Given the description of an element on the screen output the (x, y) to click on. 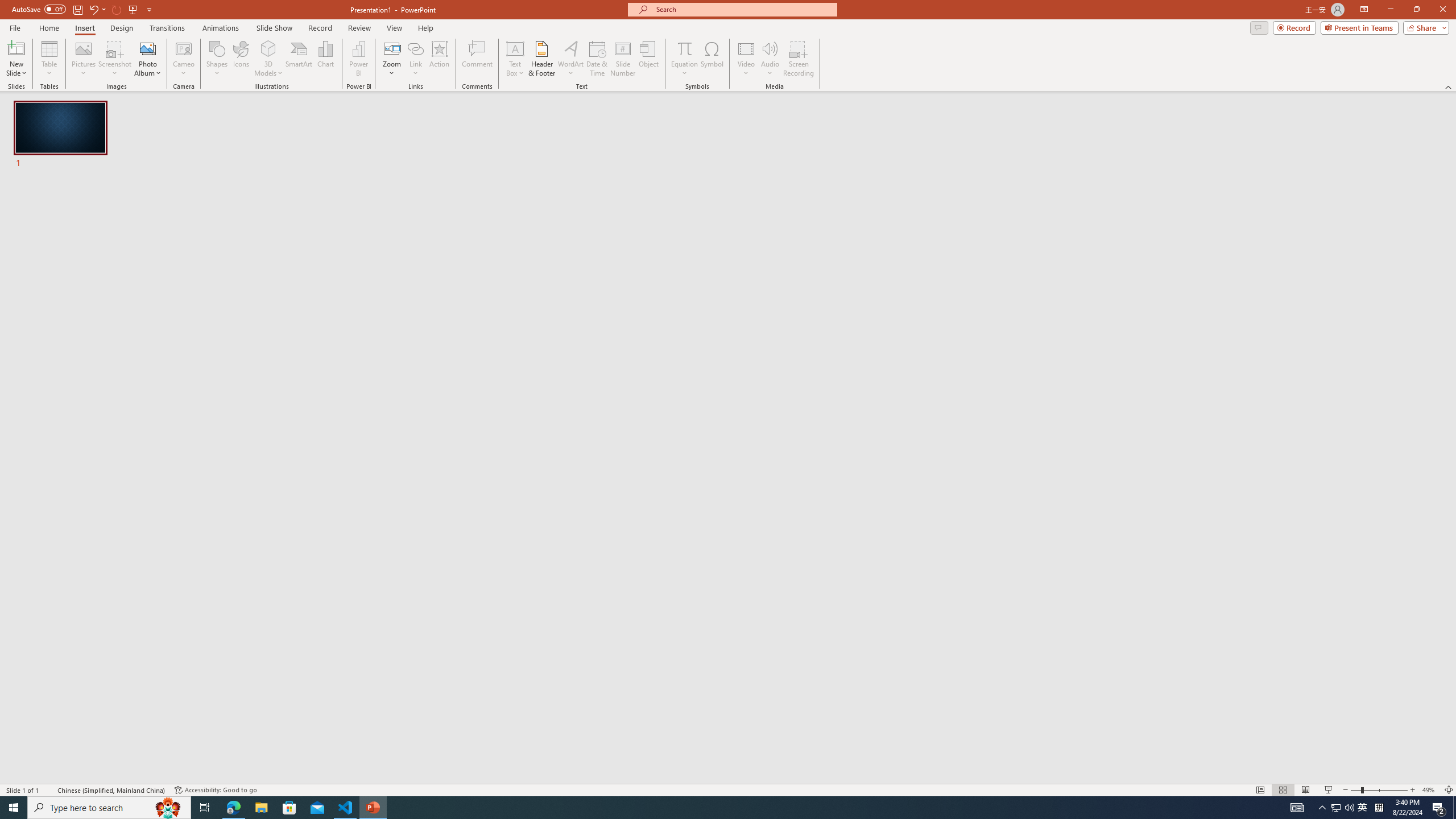
Slide Number (622, 58)
Text Box (515, 58)
Comment (476, 58)
Symbol... (711, 58)
Icons (240, 58)
Object... (649, 58)
Power BI (358, 58)
